Given the description of an element on the screen output the (x, y) to click on. 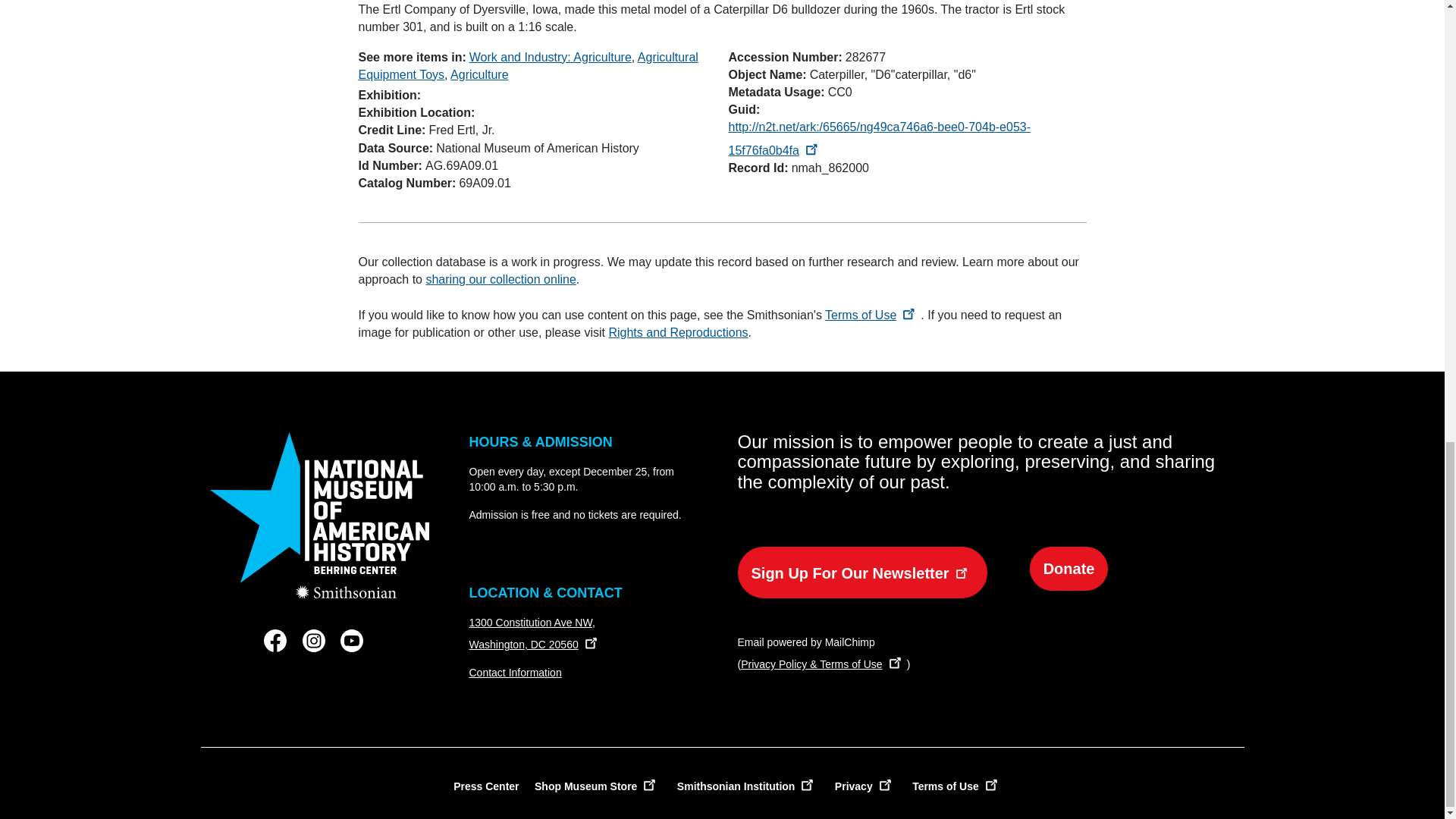
Work and Industry: Agriculture (549, 56)
Agricultural Equipment Toys (527, 65)
Agriculture (478, 74)
